Given the description of an element on the screen output the (x, y) to click on. 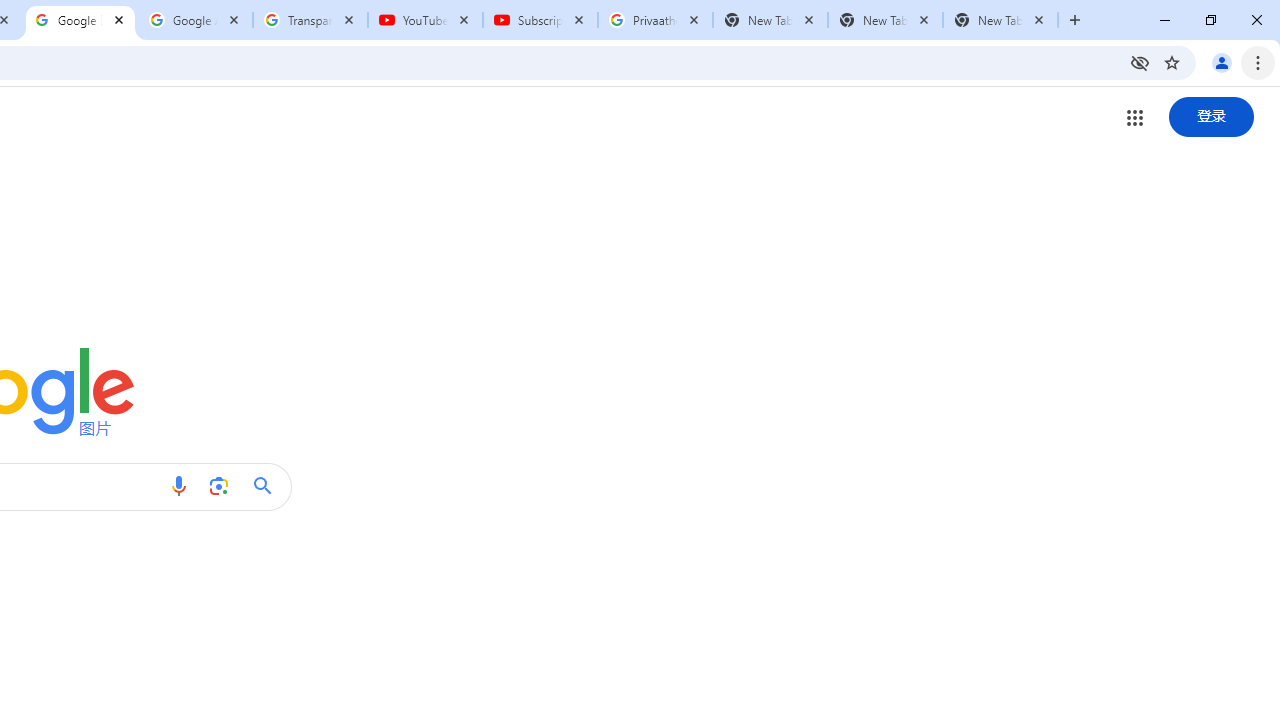
Google Account (195, 20)
